Given the description of an element on the screen output the (x, y) to click on. 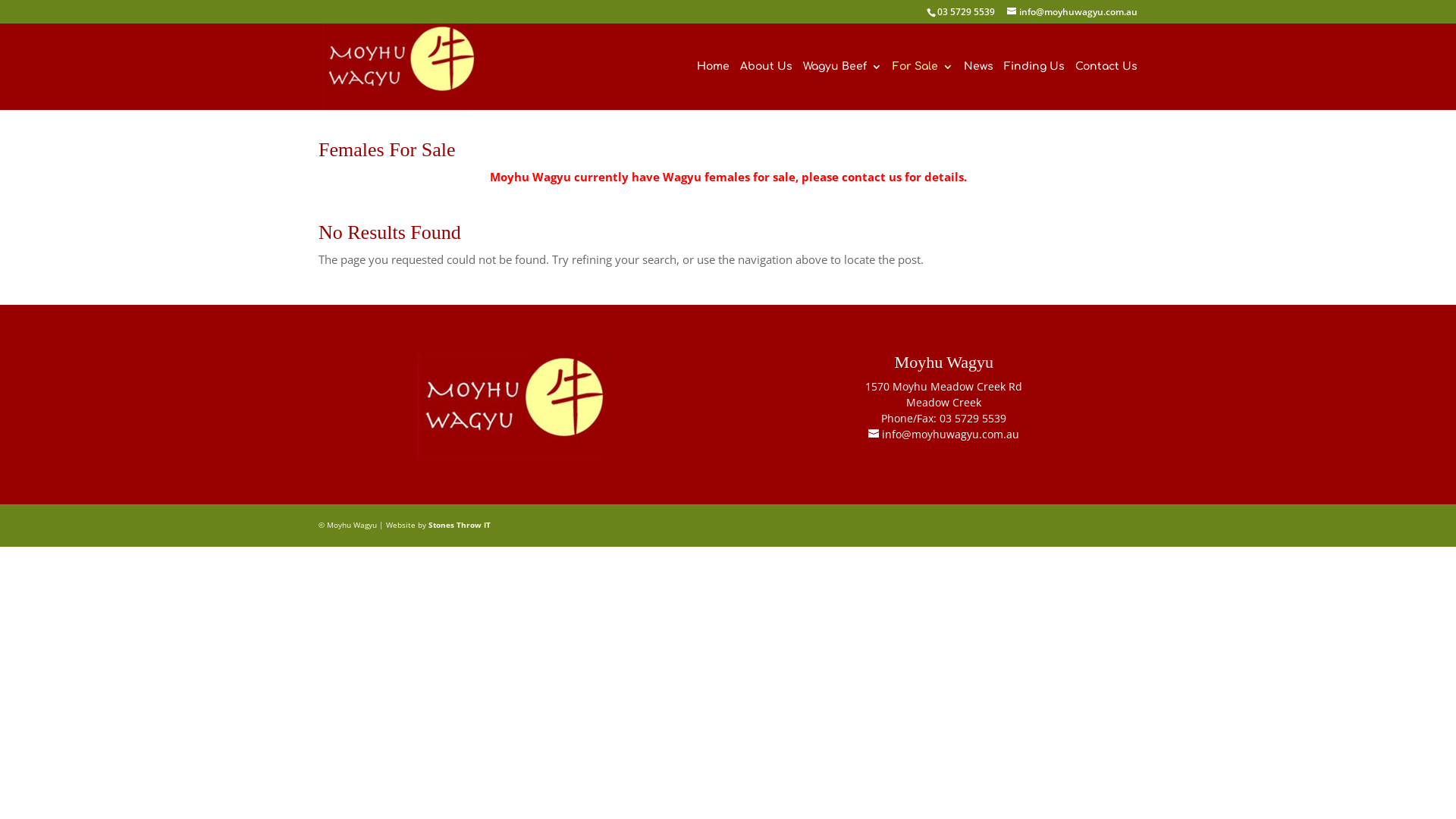
Wagyu Beef Element type: text (842, 85)
Finding Us Element type: text (1034, 85)
Contact Us Element type: text (1106, 85)
News Element type: text (978, 85)
info@moyhuwagyu.com.au Element type: text (1072, 11)
03 5729 5539 Element type: text (965, 11)
About Us Element type: text (766, 85)
info@moyhuwagyu.com.au Element type: text (943, 433)
Home Element type: text (712, 85)
Stones Throw IT Element type: text (459, 524)
For Sale Element type: text (922, 85)
